Given the description of an element on the screen output the (x, y) to click on. 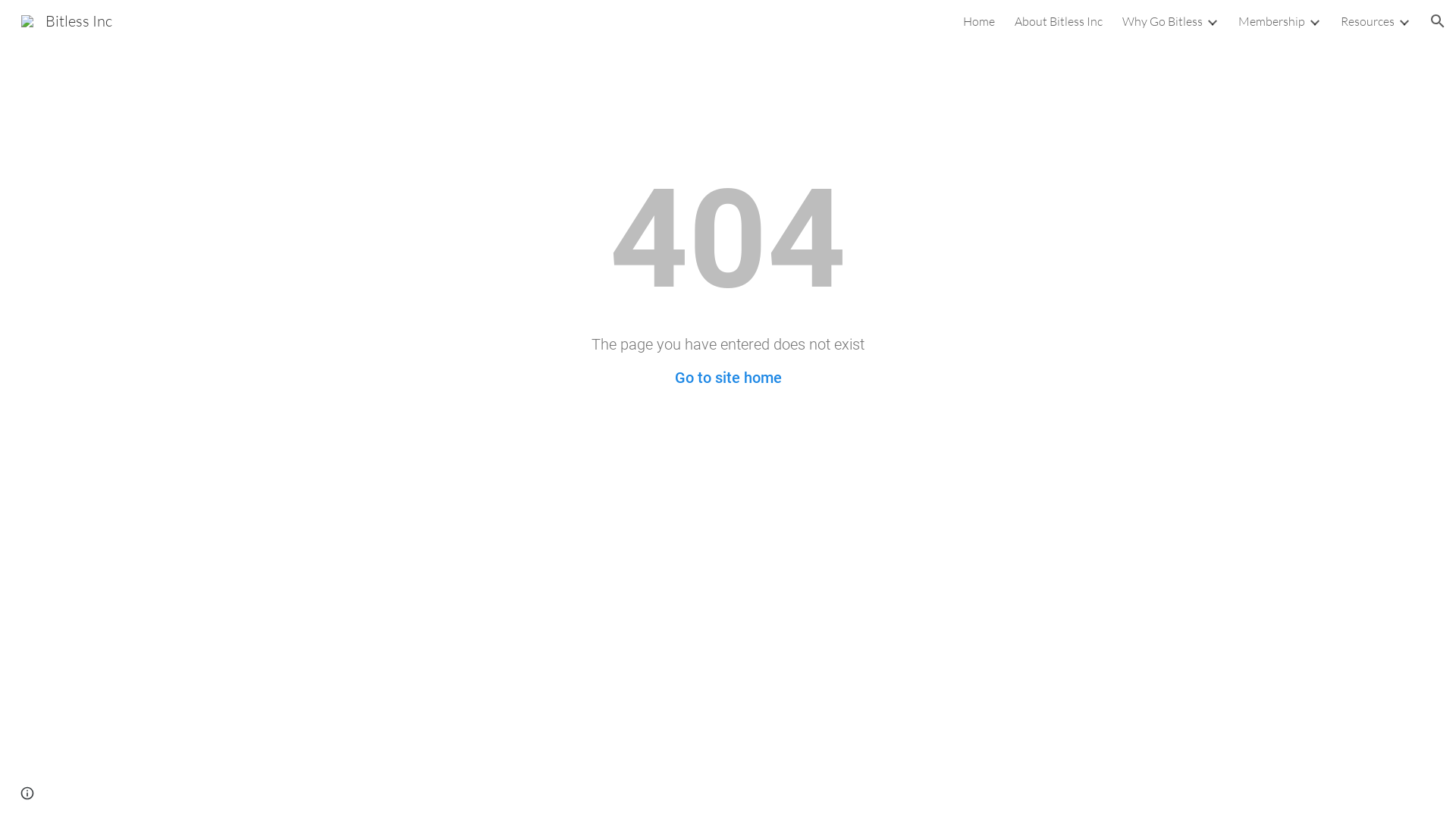
Membership Element type: text (1271, 20)
Expand/Collapse Element type: hover (1314, 20)
Resources Element type: text (1367, 20)
Bitless Inc Element type: text (66, 18)
About Bitless Inc Element type: text (1058, 20)
Why Go Bitless Element type: text (1162, 20)
Go to site home Element type: text (727, 377)
Home Element type: text (978, 20)
Expand/Collapse Element type: hover (1211, 20)
Expand/Collapse Element type: hover (1403, 20)
